Given the description of an element on the screen output the (x, y) to click on. 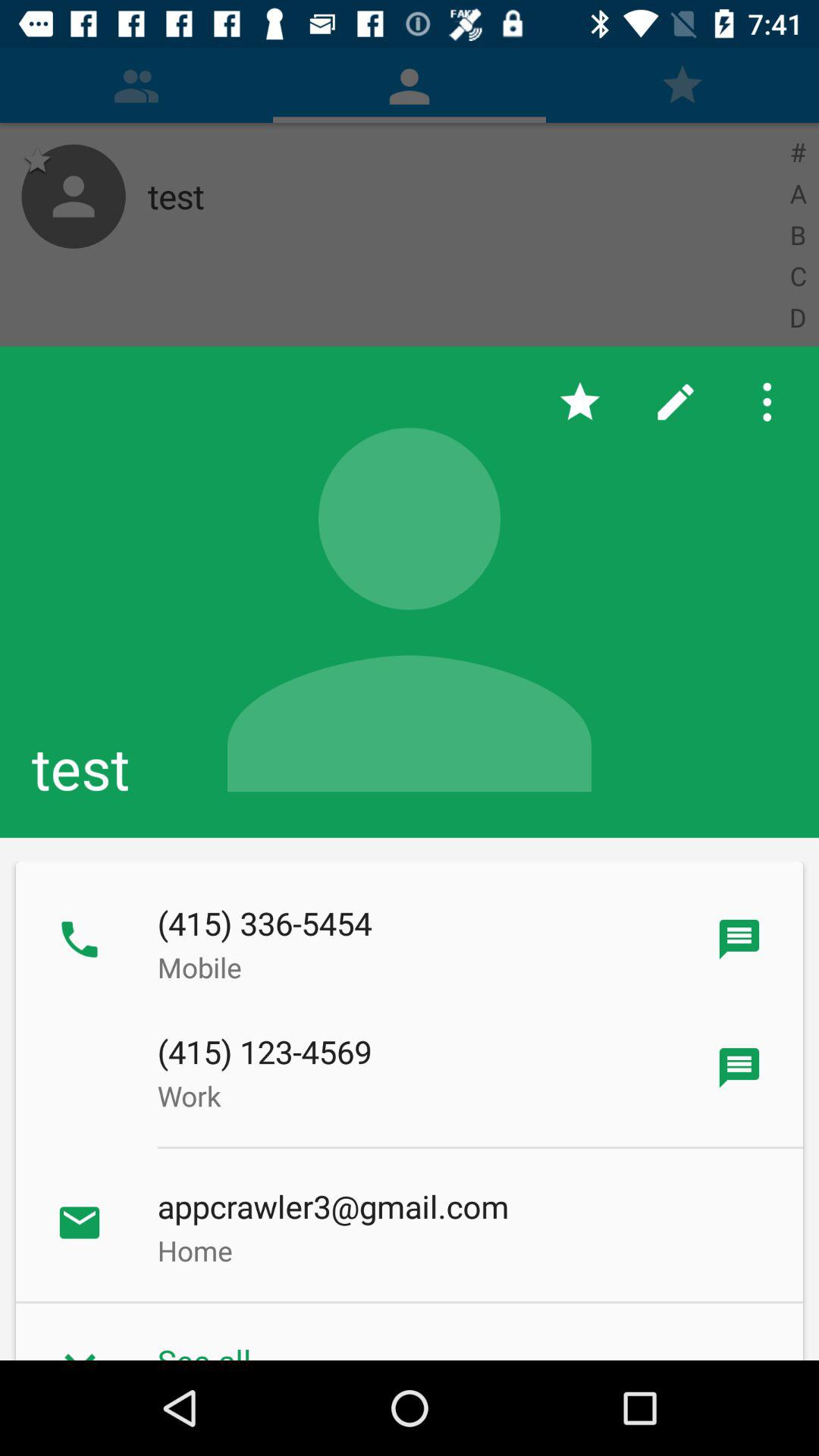
open item above test app (771, 401)
